Given the description of an element on the screen output the (x, y) to click on. 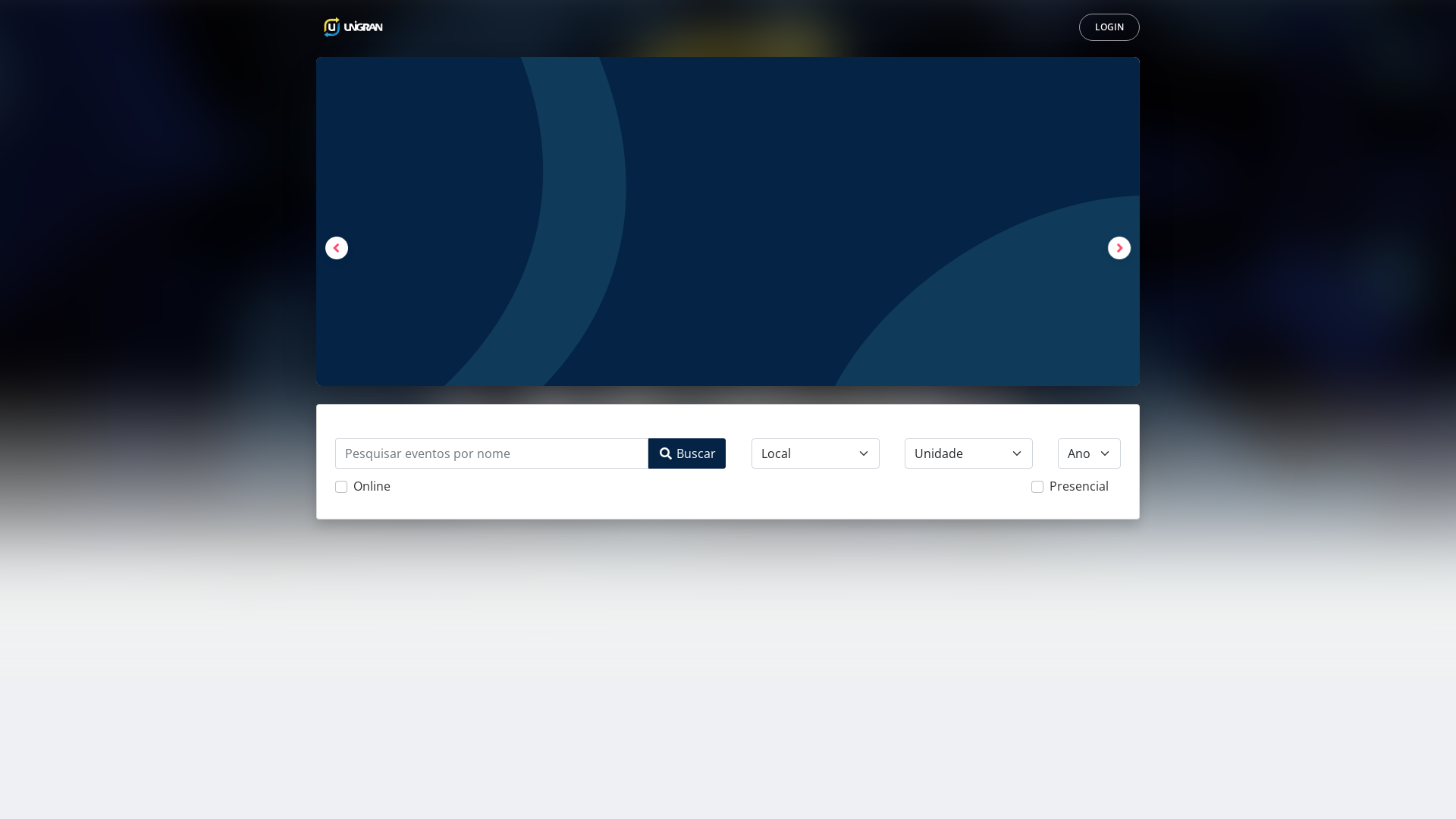
LOGIN Element type: text (1109, 26)
Buscar Element type: text (686, 453)
